Given the description of an element on the screen output the (x, y) to click on. 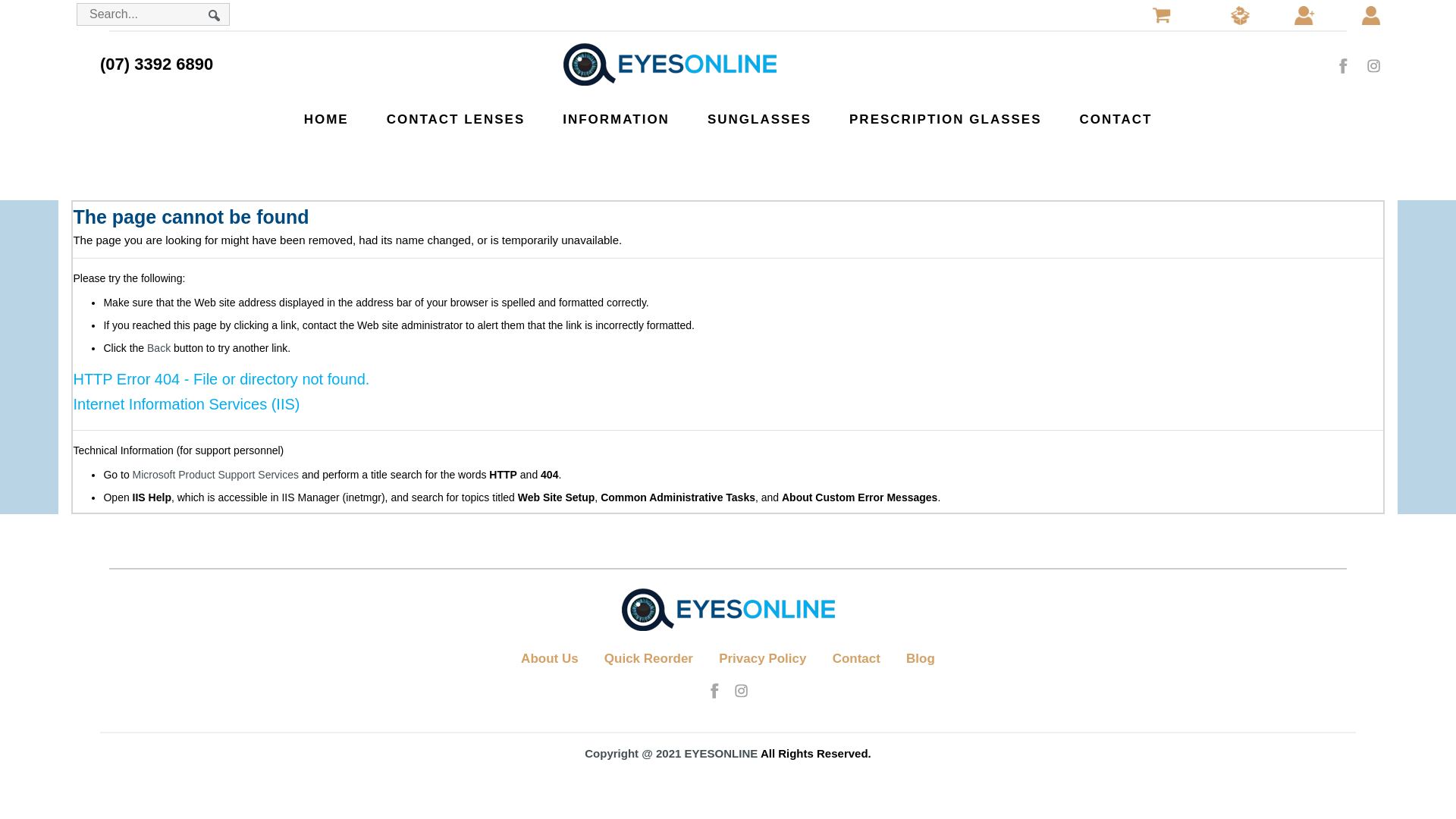
Quick Reorder Element type: text (648, 658)
Back Element type: text (158, 348)
Blog Element type: text (920, 658)
Microsoft Product Support Services Element type: text (215, 474)
Reorder Element type: hover (1239, 13)
Register Element type: hover (1304, 13)
INFORMATION Element type: text (615, 119)
Copyright @ 2021 EYESONLINE Element type: text (670, 752)
Contact Element type: text (856, 658)
HOME Element type: text (326, 119)
PRESCRIPTION GLASSES Element type: text (945, 119)
SUNGLASSES Element type: text (759, 119)
CONTACT Element type: text (1115, 119)
About Us Element type: text (549, 658)
Privacy Policy Element type: text (762, 658)
CONTACT LENSES Element type: text (455, 119)
Login Element type: hover (1370, 13)
